Given the description of an element on the screen output the (x, y) to click on. 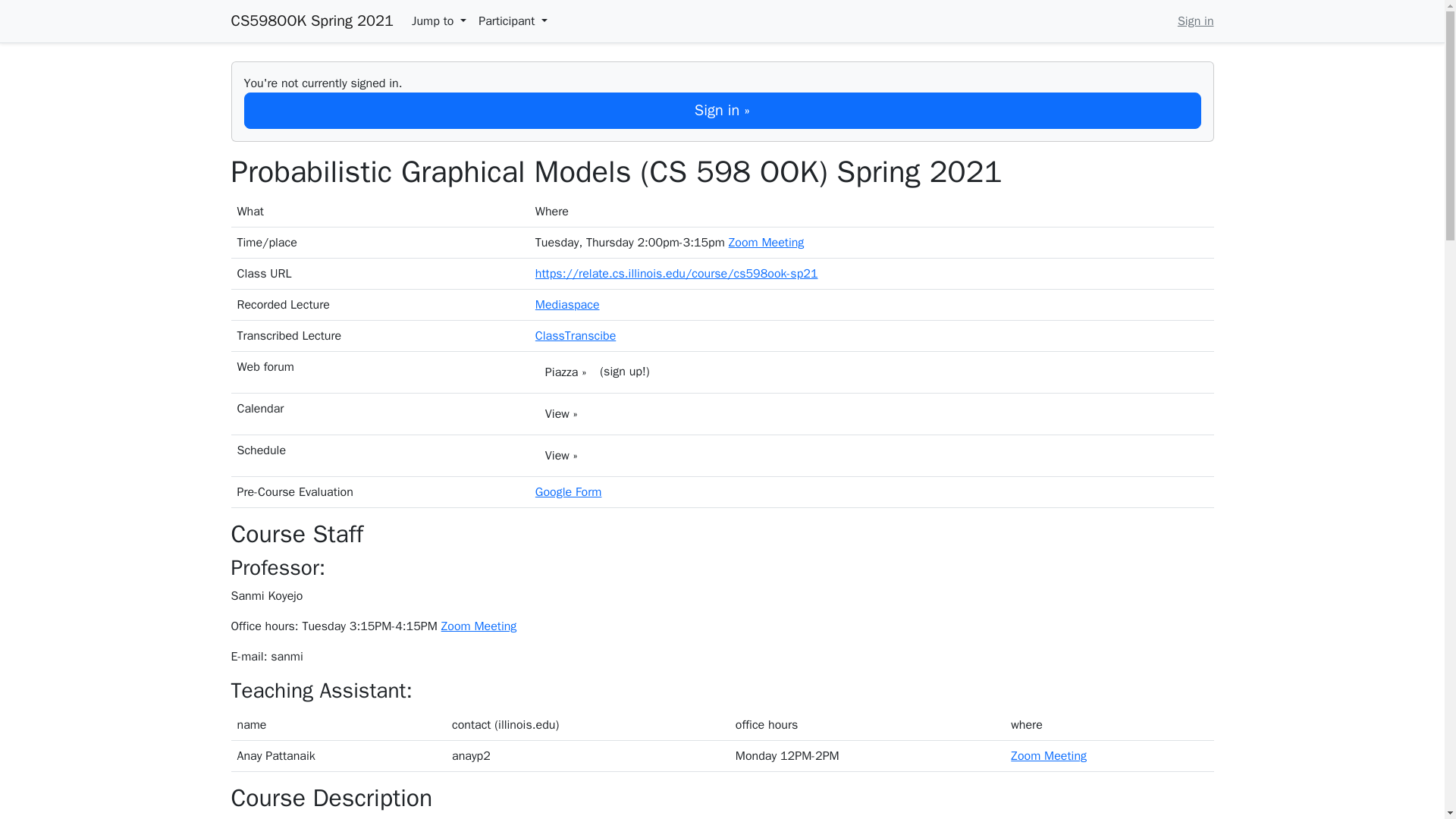
ClassTranscibe (575, 335)
Google Form (568, 491)
CS598OOK Spring 2021 (311, 20)
Mediaspace (567, 304)
Participant (513, 20)
Zoom Meeting (478, 626)
Jump to (438, 20)
Zoom Meeting (1048, 755)
Zoom Meeting (767, 242)
Sign in (1195, 20)
